Given the description of an element on the screen output the (x, y) to click on. 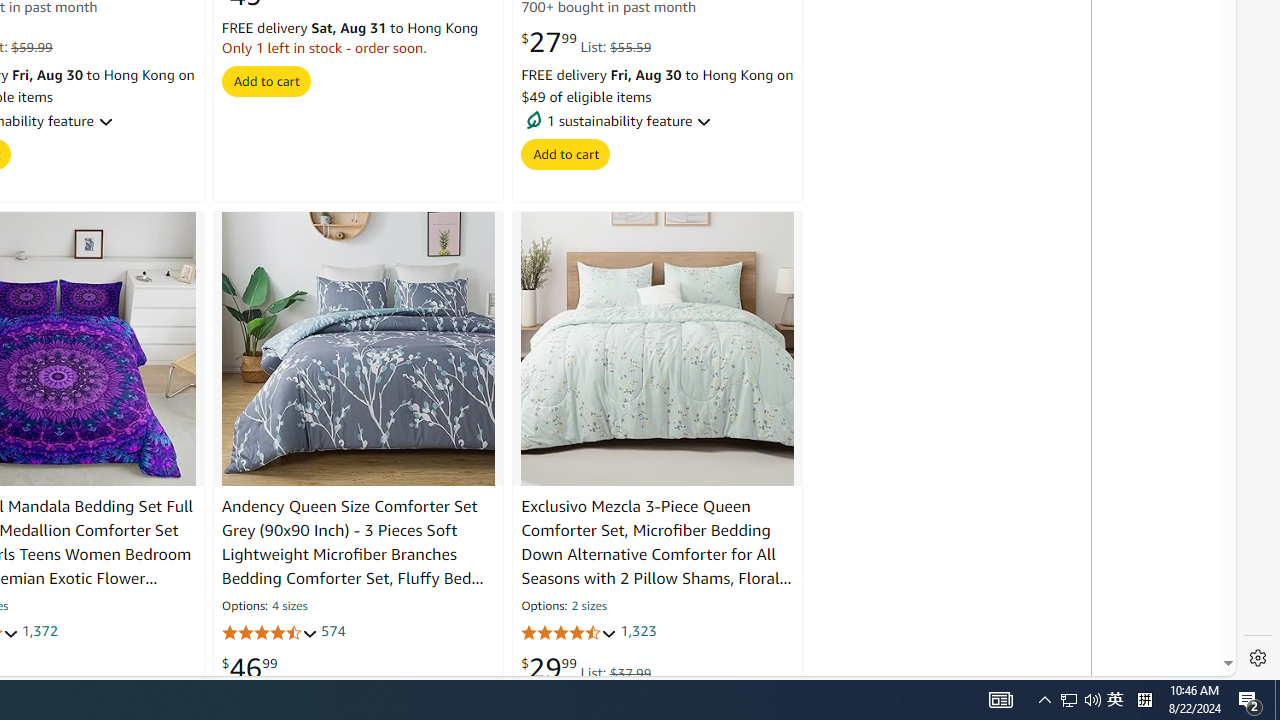
4 sizes (289, 606)
574 (332, 632)
 1 sustainability feature (657, 120)
$27.99 List: $55.59 (585, 43)
1,372 (38, 632)
Add to cart (566, 154)
2 sizes (588, 606)
4.4 out of 5 stars (569, 632)
1,323 (637, 632)
$29.99 List: $37.99 (585, 668)
$46.99 (249, 668)
